Given the description of an element on the screen output the (x, y) to click on. 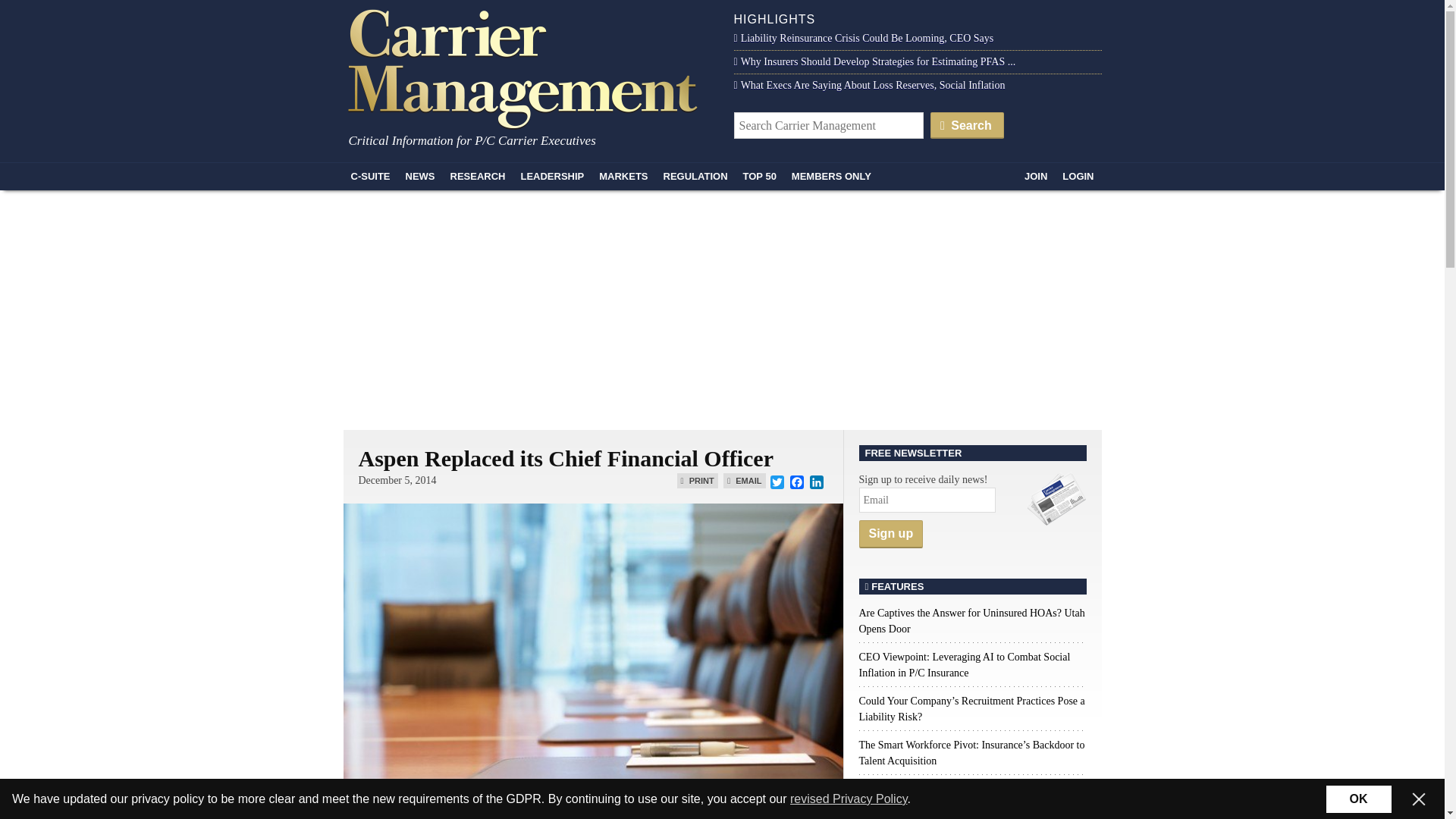
Liability Reinsurance Crisis Could Be Looming, CEO Says (863, 38)
MARKETS (623, 176)
What Execs Are Saying About Loss Reserves, Social Inflation (869, 84)
LOGIN (1077, 176)
C-SUITE (369, 176)
JOIN (1035, 176)
RESEARCH (477, 176)
LEADERSHIP (551, 176)
Carrier Management (527, 67)
MEMBERS ONLY (831, 176)
REGULATION (695, 176)
Search (967, 125)
TOP 50 (759, 176)
NEWS (419, 176)
